Given the description of an element on the screen output the (x, y) to click on. 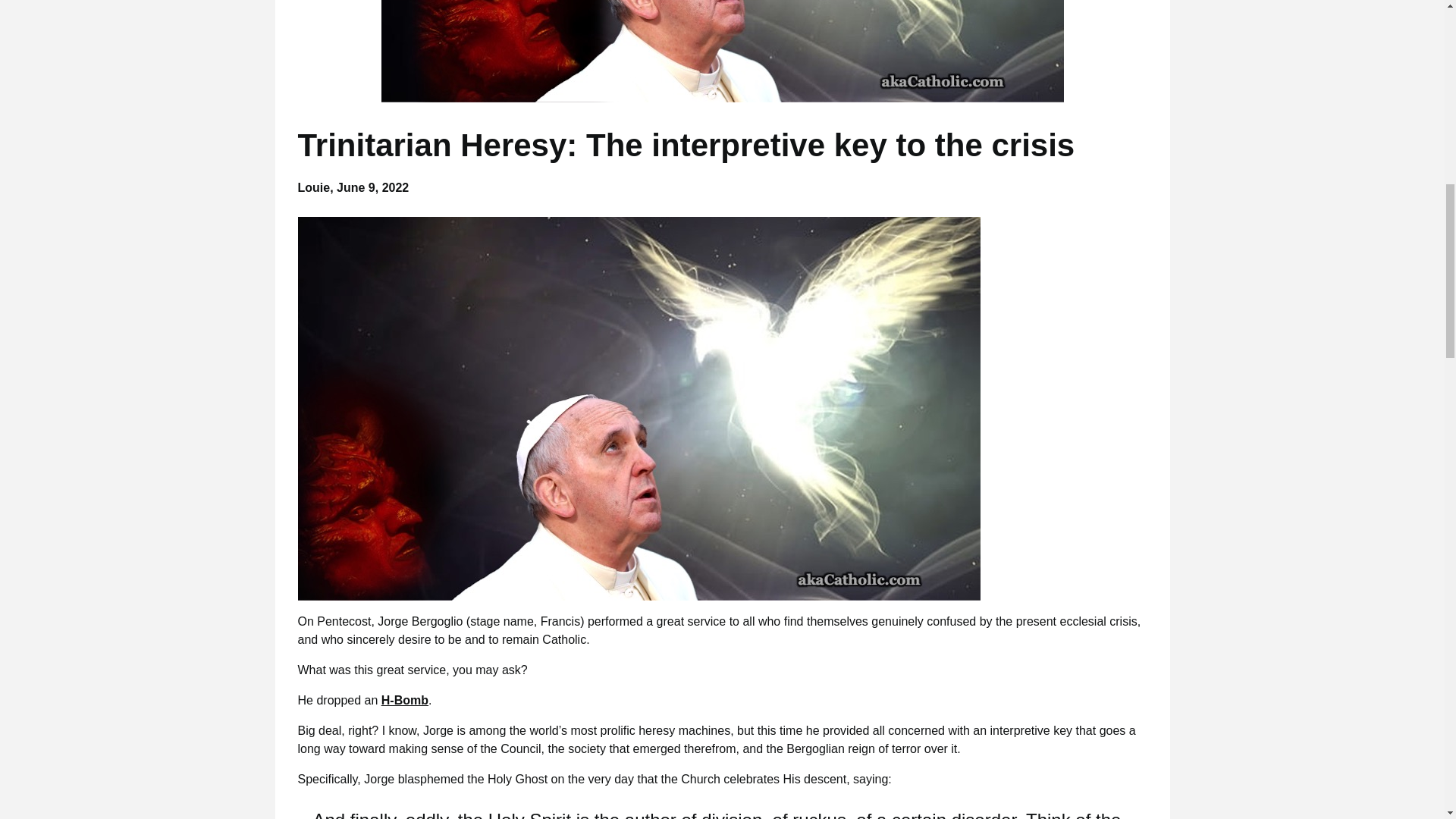
H-Bomb (404, 699)
June 9, 2022 (372, 187)
